Given the description of an element on the screen output the (x, y) to click on. 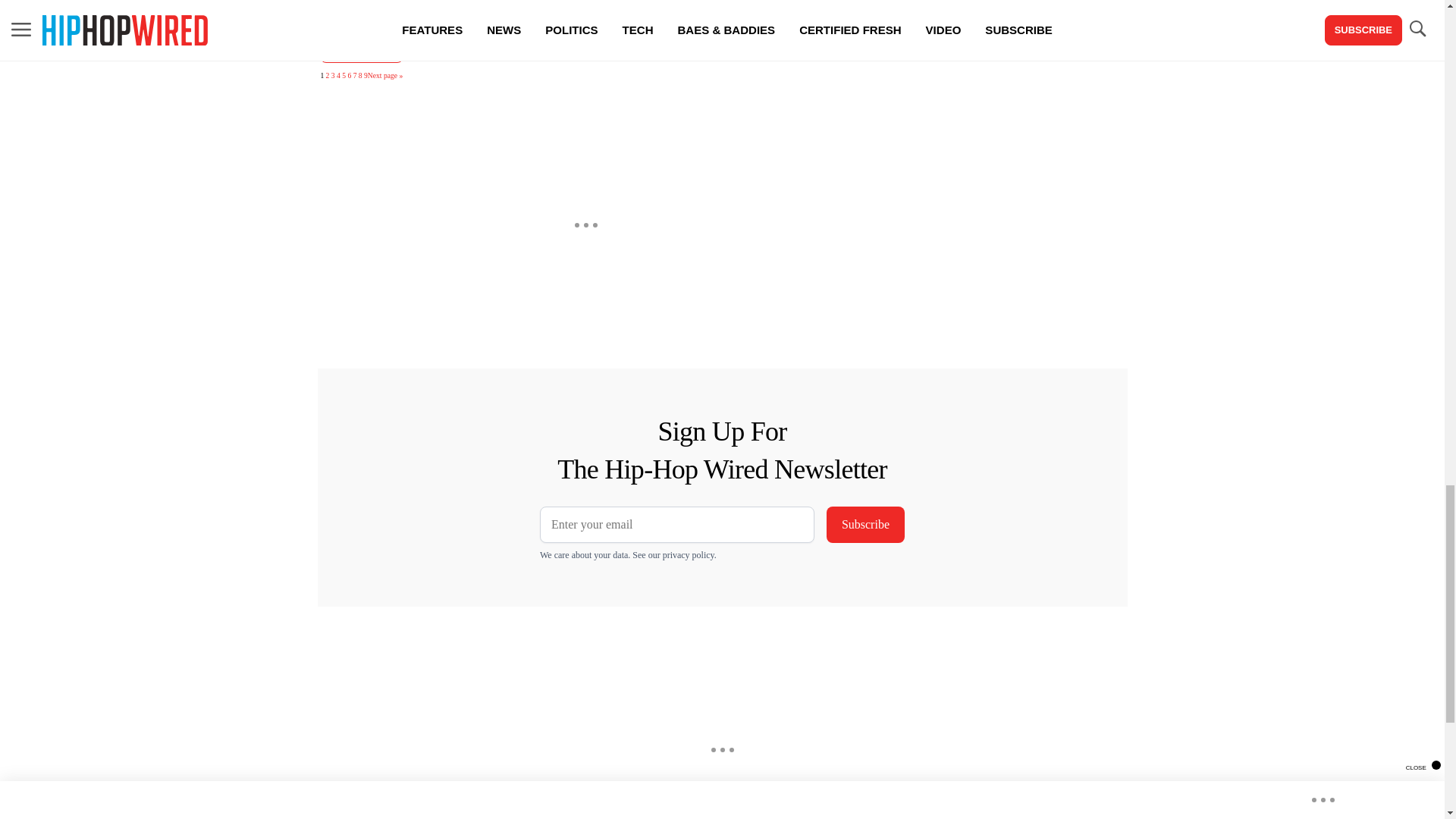
TELEVISION (361, 49)
Barack Obama Endorses Kamala Harris For POTUS, Xitter Erupts (585, 286)
